Given the description of an element on the screen output the (x, y) to click on. 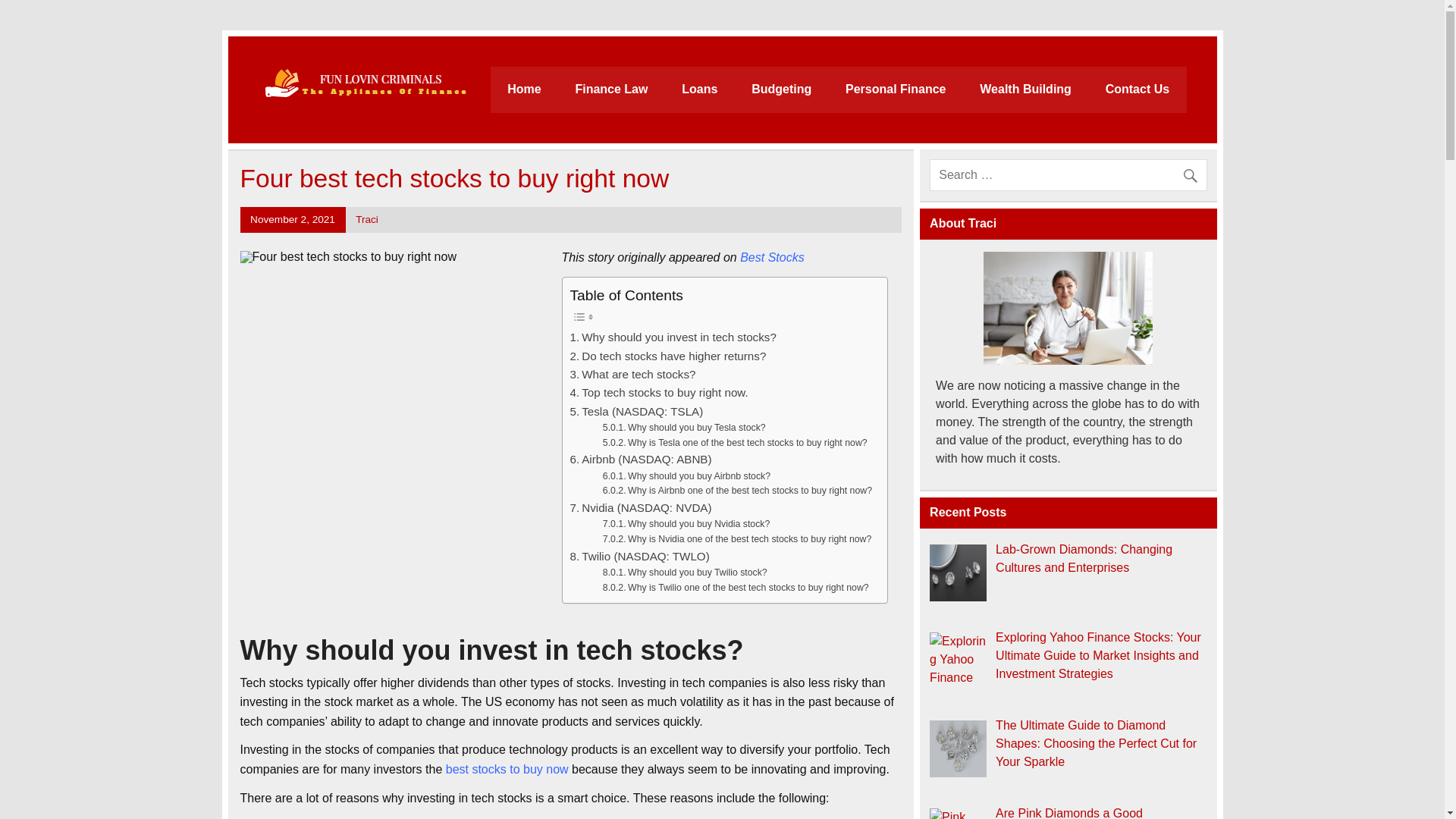
Why is Airbnb one of the best tech stocks to buy right now? (737, 491)
Do tech stocks have higher returns? (668, 356)
Home (523, 89)
November 2, 2021 (292, 219)
Why is Twilio one of the best tech stocks to buy right now? (735, 588)
Personal Finance (895, 89)
Why is Tesla one of the best tech stocks to buy right now? (734, 443)
Best Stocks (771, 256)
Fun Lovin Criminals (631, 86)
